Given the description of an element on the screen output the (x, y) to click on. 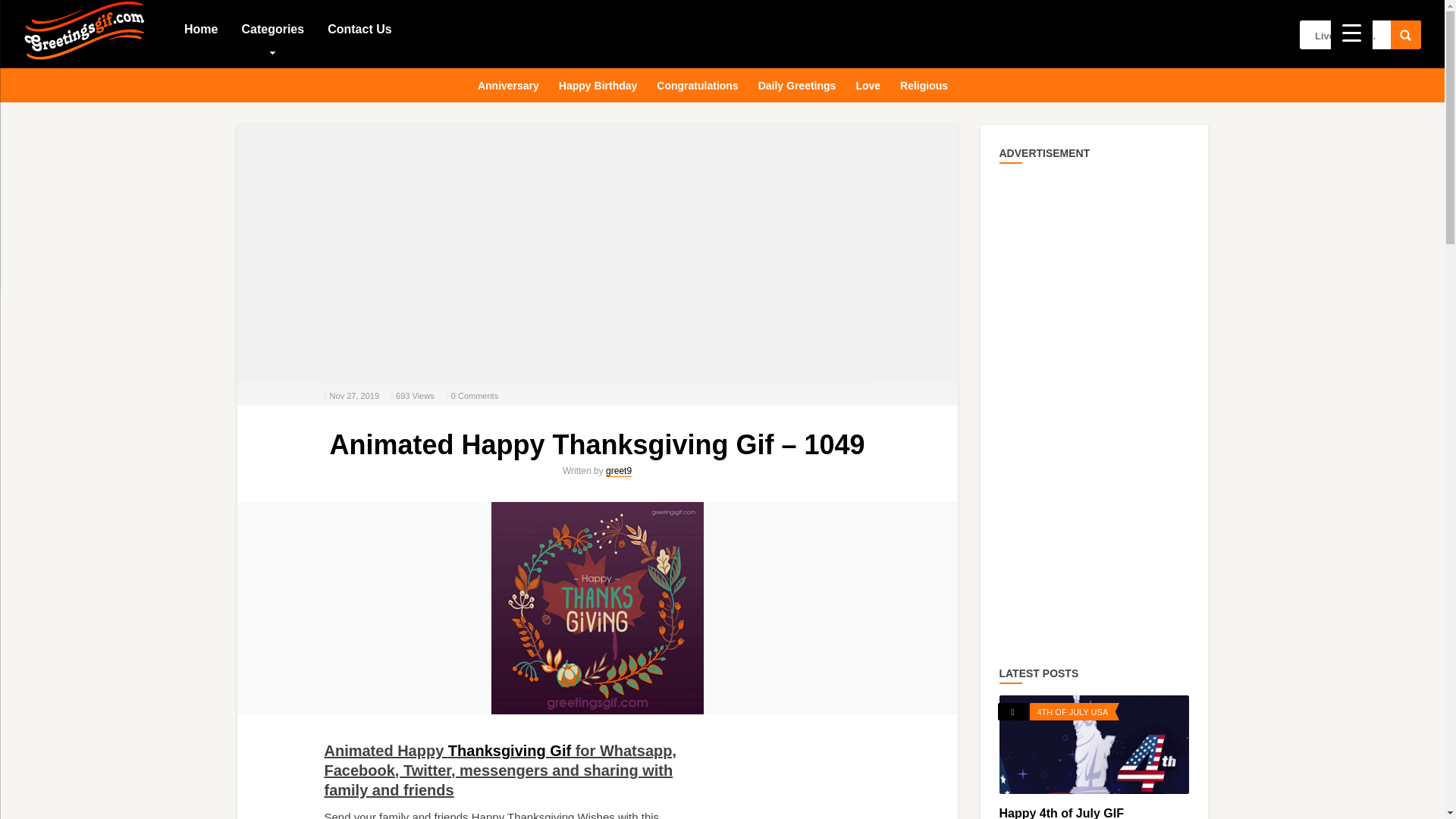
Happy Birthday (598, 83)
Advertisement (597, 254)
Advertisement (817, 787)
Love (867, 83)
Home (200, 28)
Religious (923, 83)
Posts by greet9 (618, 471)
Congratulations (697, 83)
0 Comments (474, 395)
Search (1405, 34)
